Given the description of an element on the screen output the (x, y) to click on. 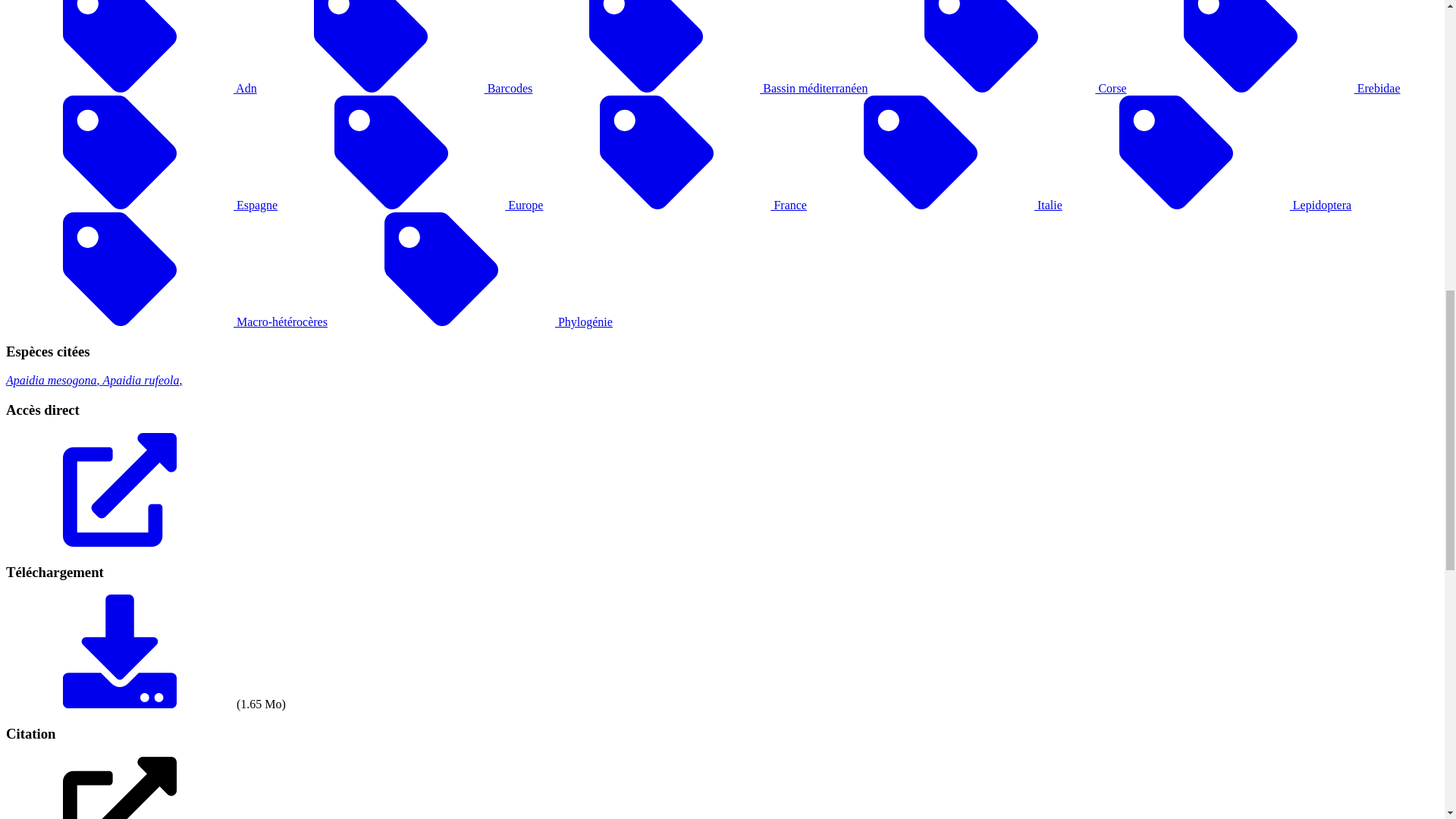
 Adn (131, 88)
 Europe (410, 205)
Apaidia mesogona, (54, 379)
 France (674, 205)
Apaidia rufeola, (143, 379)
 Lepidoptera (1206, 205)
 Italie (934, 205)
 Corse (996, 88)
 Erebidae (1263, 88)
 Espagne (141, 205)
